Given the description of an element on the screen output the (x, y) to click on. 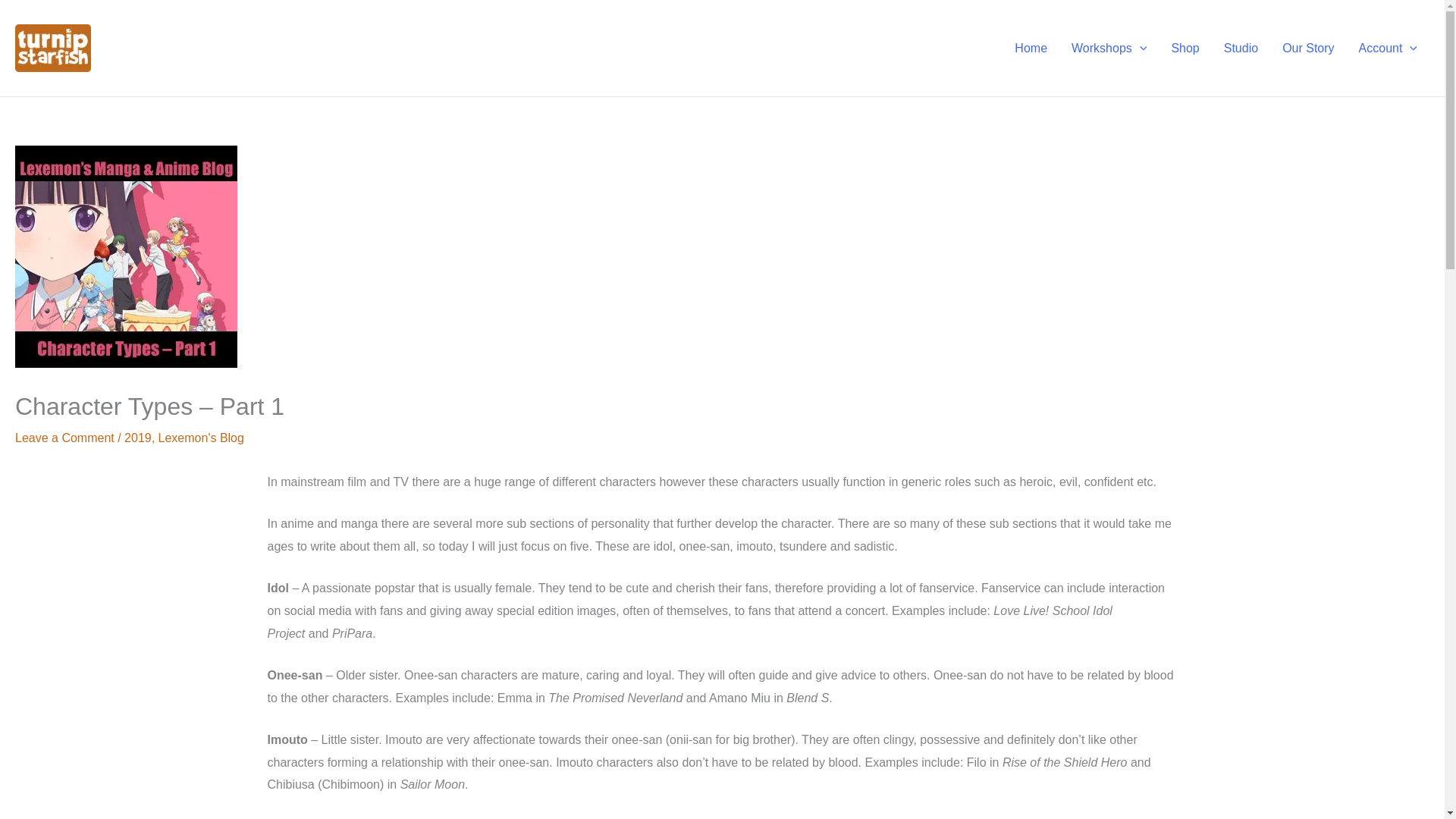
Workshops (1108, 48)
2019 (137, 437)
Account (1387, 48)
Home (1031, 48)
Studio (1240, 48)
Leave a Comment (64, 437)
Our Story (1307, 48)
